Given the description of an element on the screen output the (x, y) to click on. 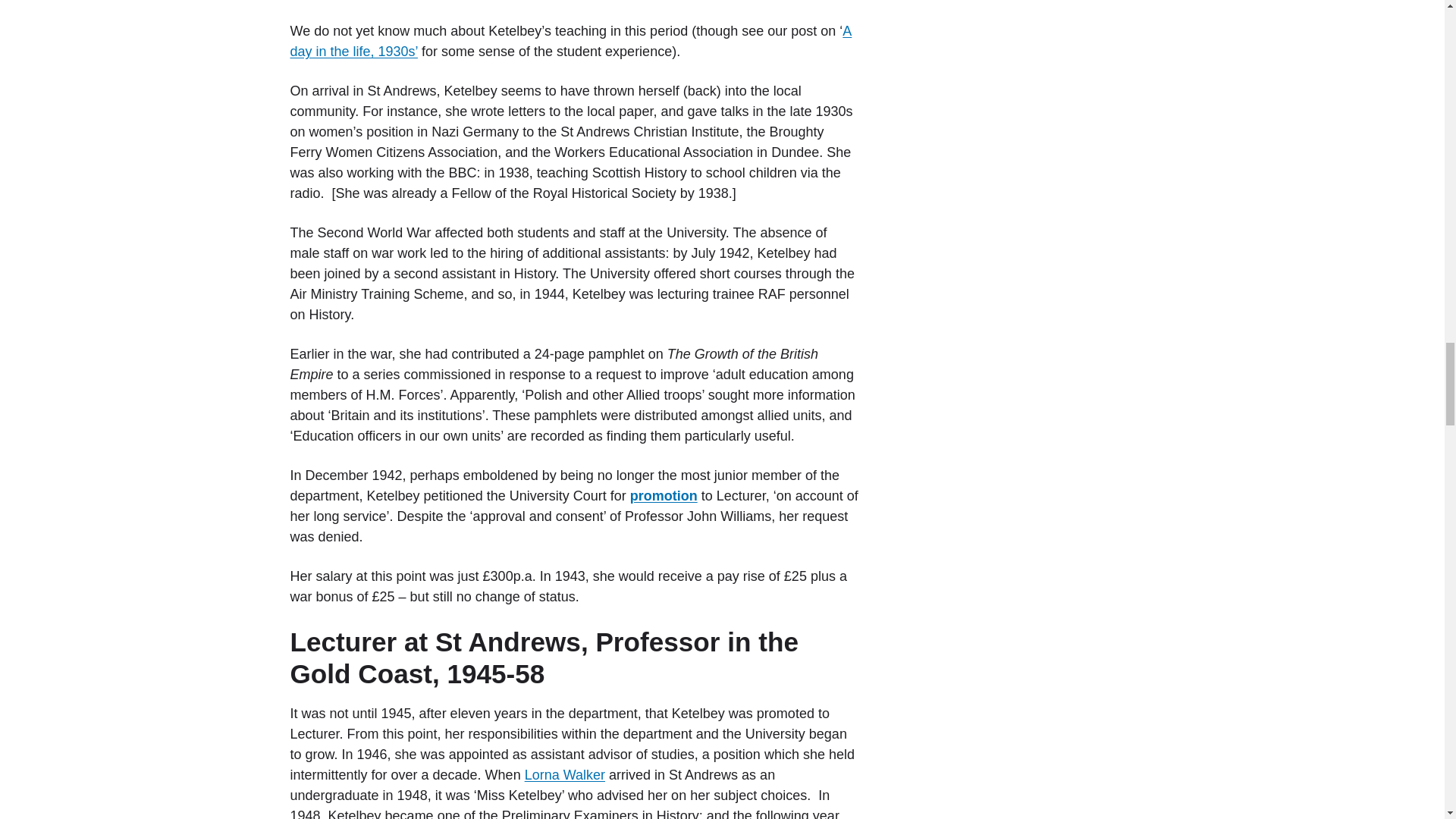
Lorna Walker (564, 774)
promotion (663, 495)
